Given the description of an element on the screen output the (x, y) to click on. 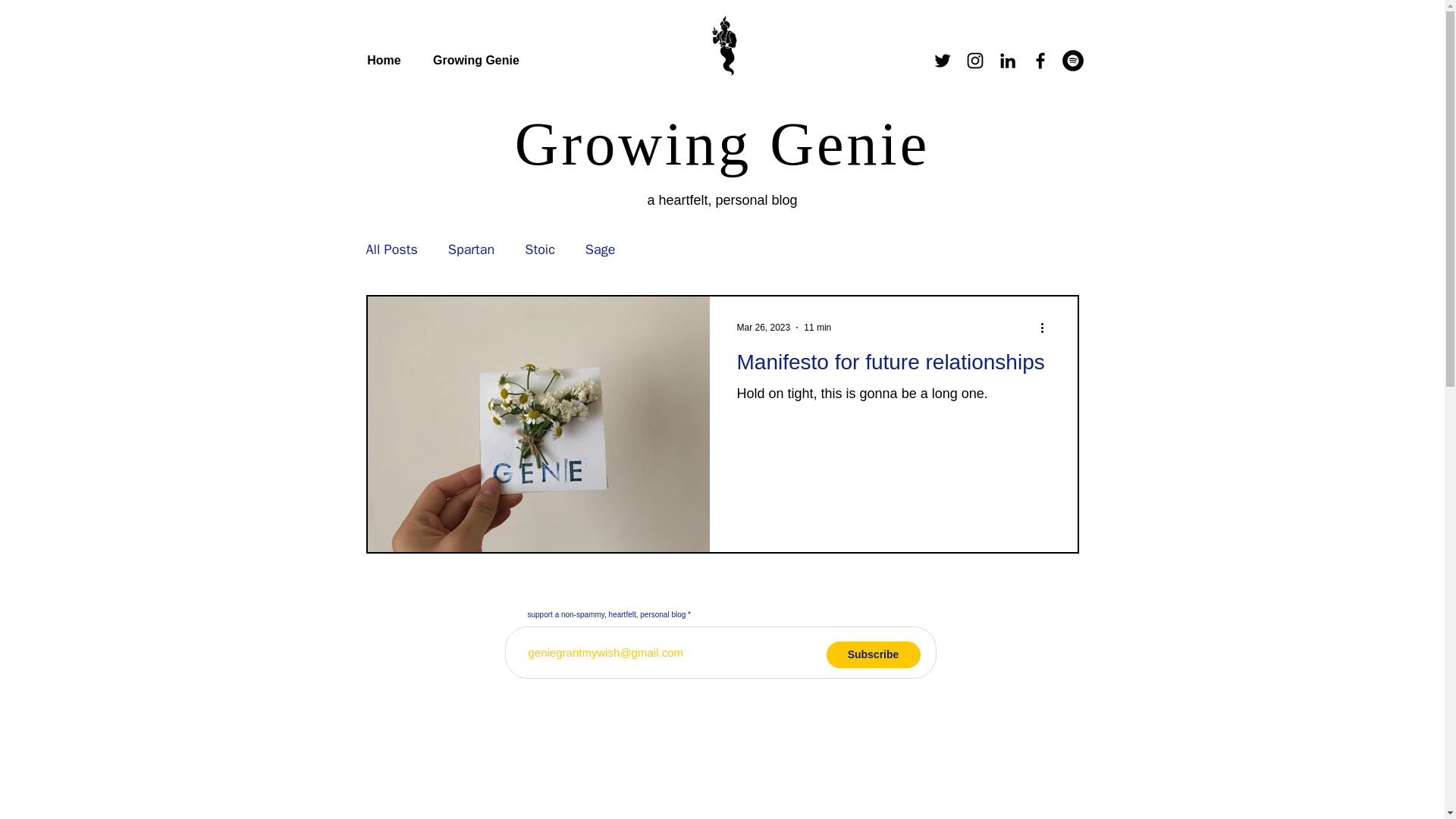
Sage (600, 249)
Home (383, 60)
Growing Genie (475, 60)
Manifesto for future relationships (892, 366)
Spartan (471, 249)
All Posts (390, 249)
Mar 26, 2023 (763, 327)
11 min (817, 327)
Subscribe (873, 654)
Stoic (539, 249)
